Given the description of an element on the screen output the (x, y) to click on. 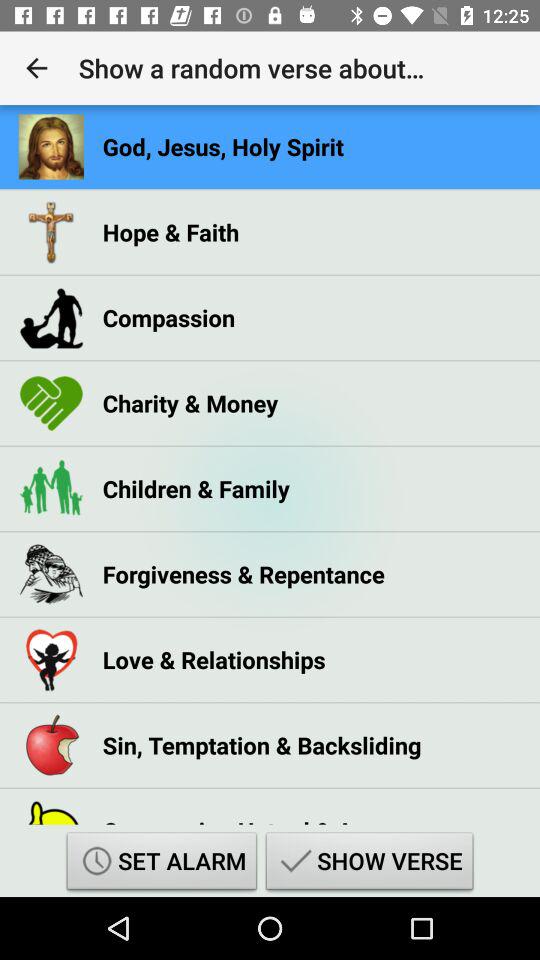
press the icon below the show a random app (223, 146)
